Given the description of an element on the screen output the (x, y) to click on. 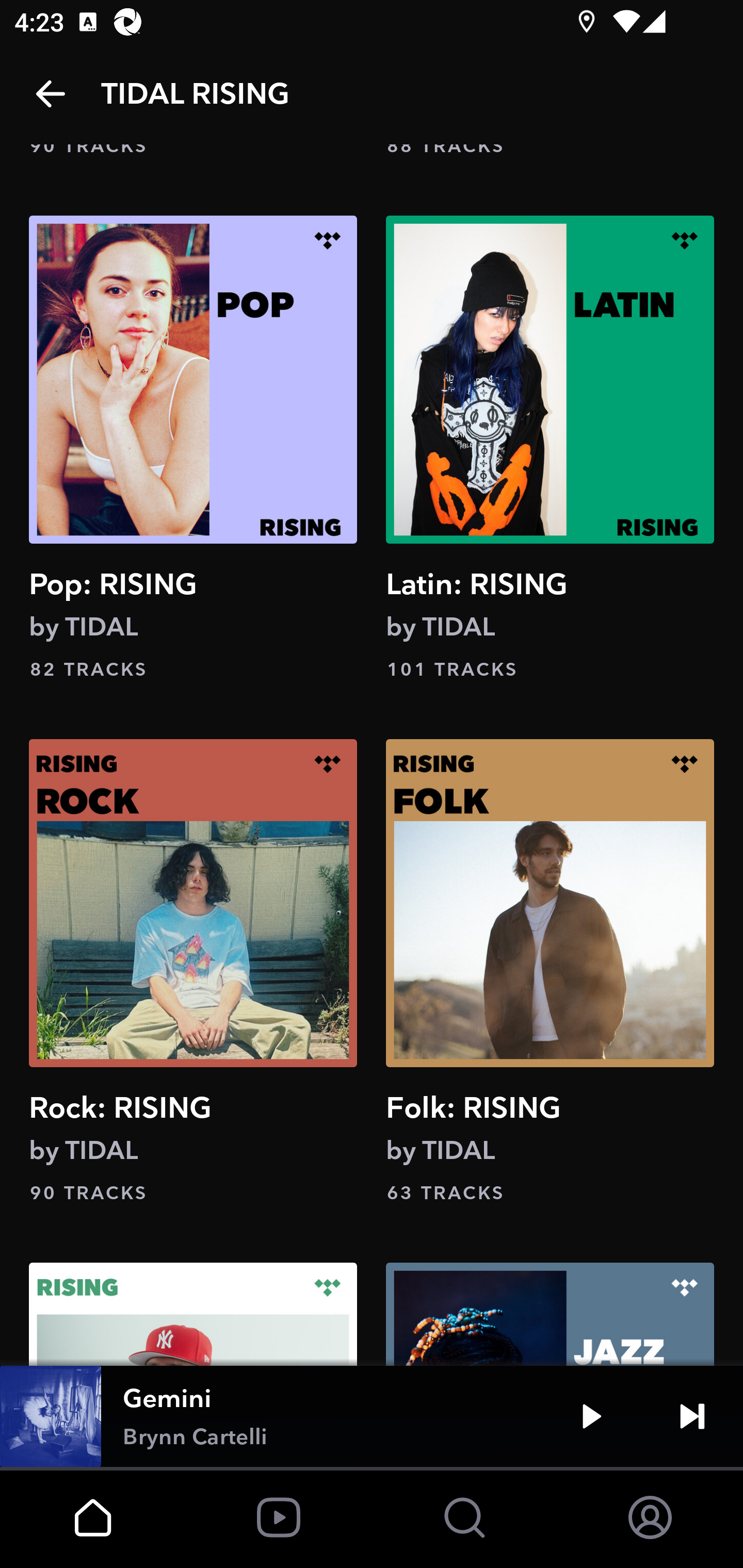
Pop: RISING by TIDAL 82 TRACKS (192, 449)
Latin: RISING by TIDAL 101 TRACKS (549, 449)
Rock: RISING by TIDAL 90 TRACKS (192, 971)
Folk: RISING by TIDAL 63 TRACKS (549, 971)
Gemini Brynn Cartelli Play (371, 1416)
Play (590, 1416)
